Given the description of an element on the screen output the (x, y) to click on. 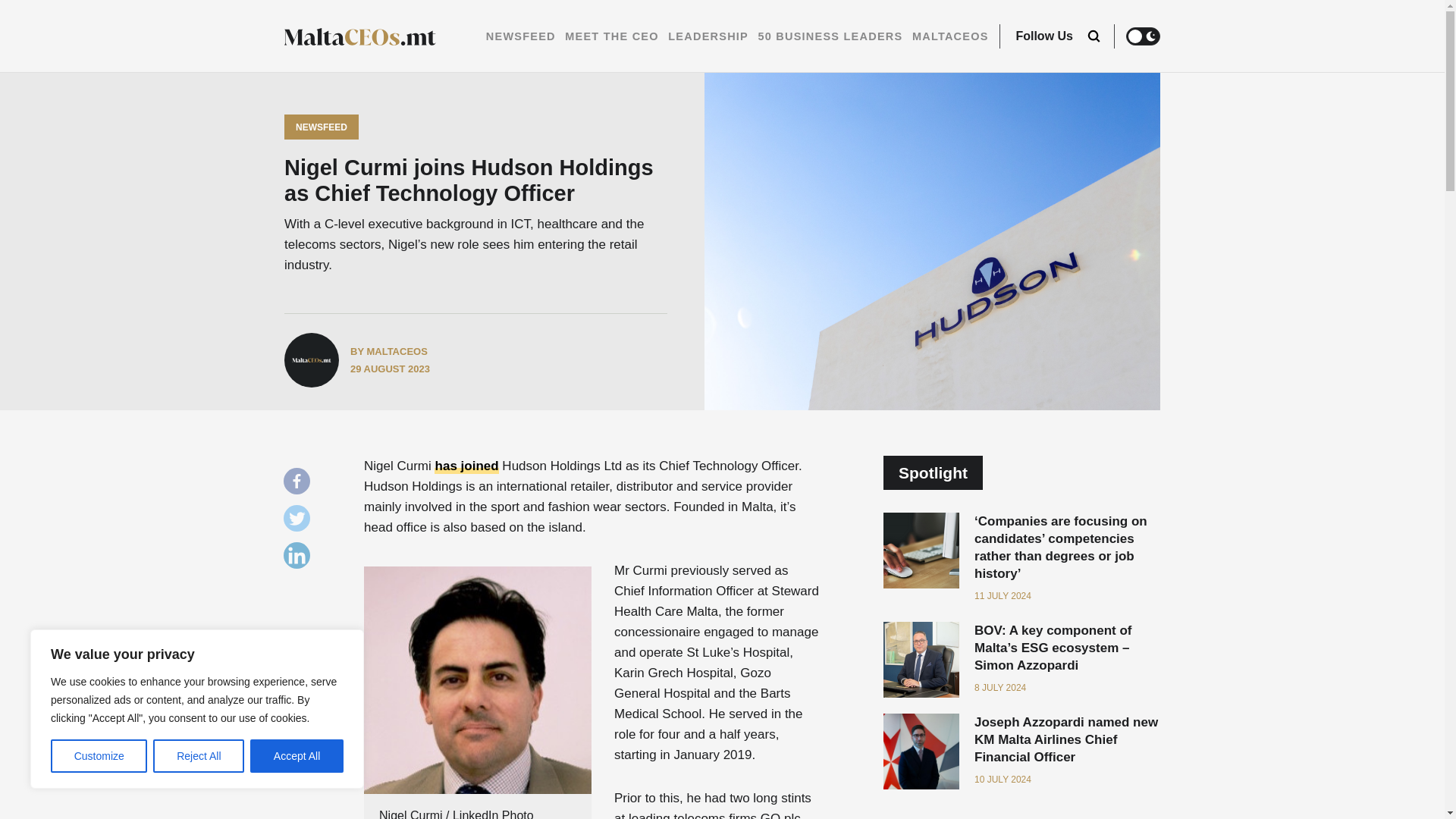
MALTACEOS (950, 36)
Accept All (296, 756)
NEWSFEED (521, 36)
LEADERSHIP (708, 36)
Facebook (300, 484)
Twitter (300, 521)
Linkedin (300, 559)
50 BUSINESS LEADERS (829, 36)
Customize (98, 756)
MEET THE CEO (611, 36)
Reject All (198, 756)
